Given the description of an element on the screen output the (x, y) to click on. 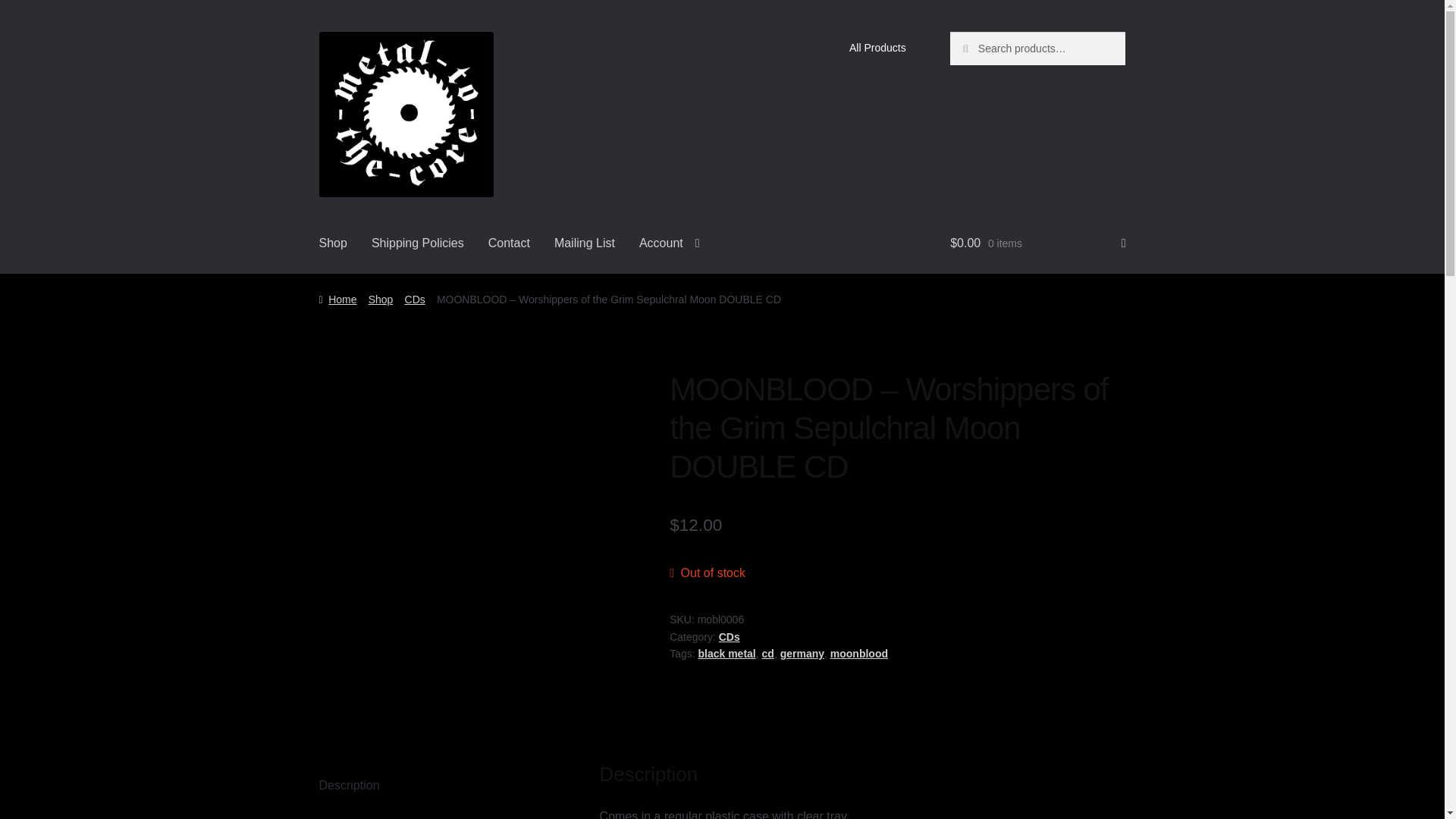
CDs (414, 299)
All Products (877, 47)
Shipping Policies (417, 242)
Account (669, 242)
black metal (726, 653)
Additional information (441, 813)
germany (802, 653)
Mailing List (584, 242)
Shop (380, 299)
CDs (729, 636)
Contact (508, 242)
